Given the description of an element on the screen output the (x, y) to click on. 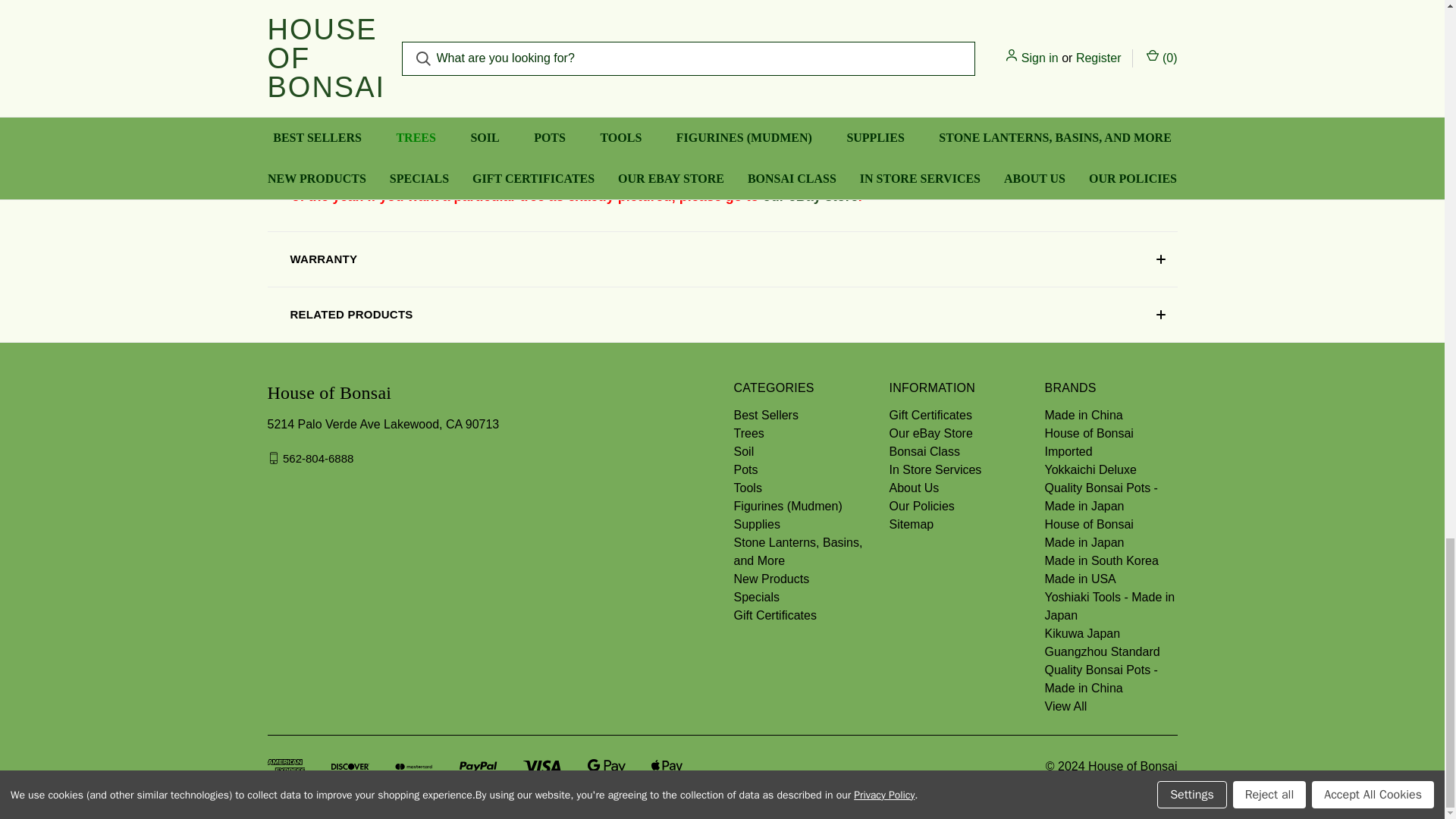
House of Bonsai's eBay Store Profile (810, 196)
